Given the description of an element on the screen output the (x, y) to click on. 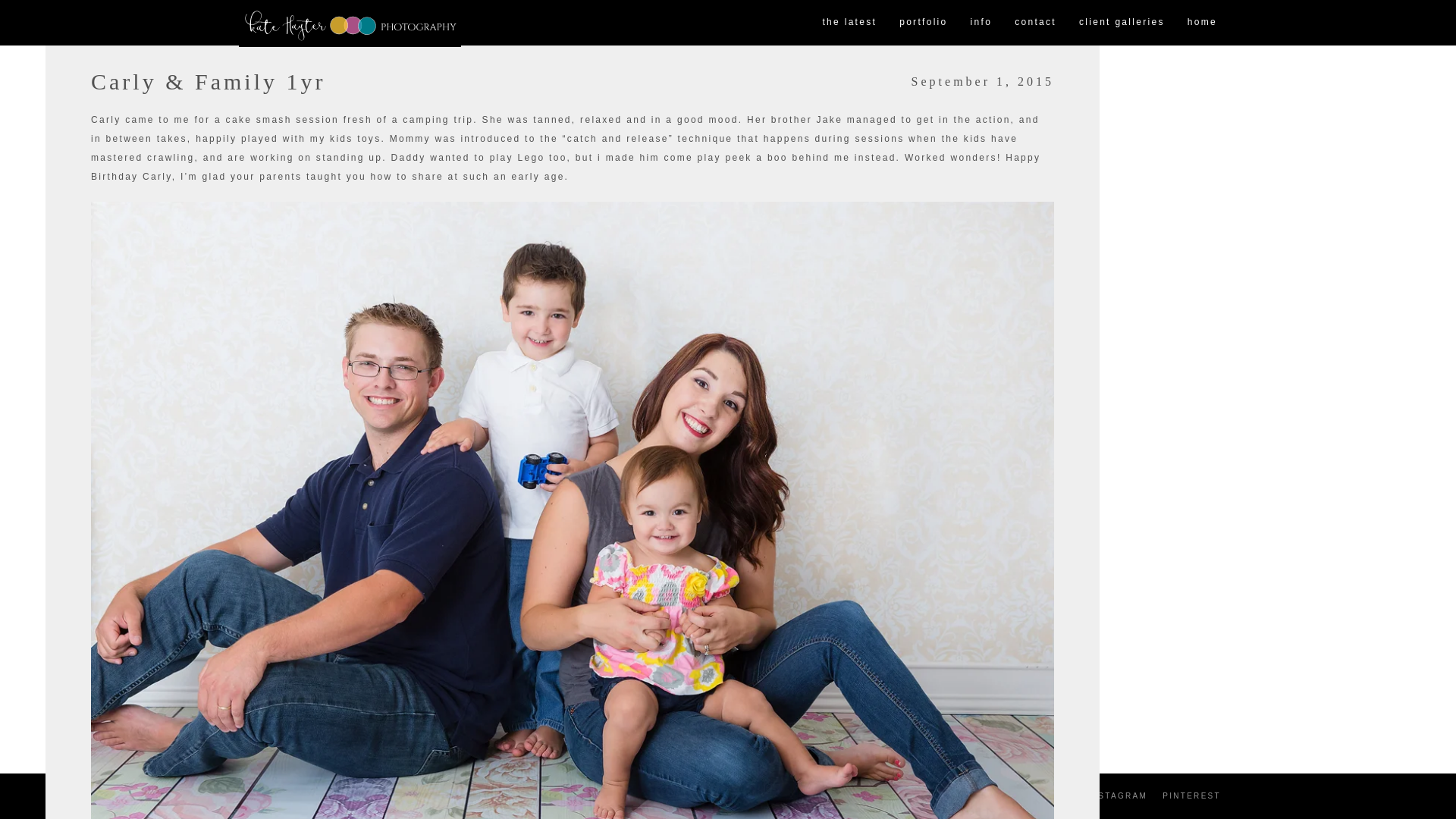
home (1202, 22)
the latest (849, 22)
INSTAGRAM (1117, 796)
contact (1035, 22)
client galleries (1121, 22)
PINTEREST (1191, 796)
portfolio (923, 22)
info (981, 22)
FACEBOOK (1043, 796)
